Given the description of an element on the screen output the (x, y) to click on. 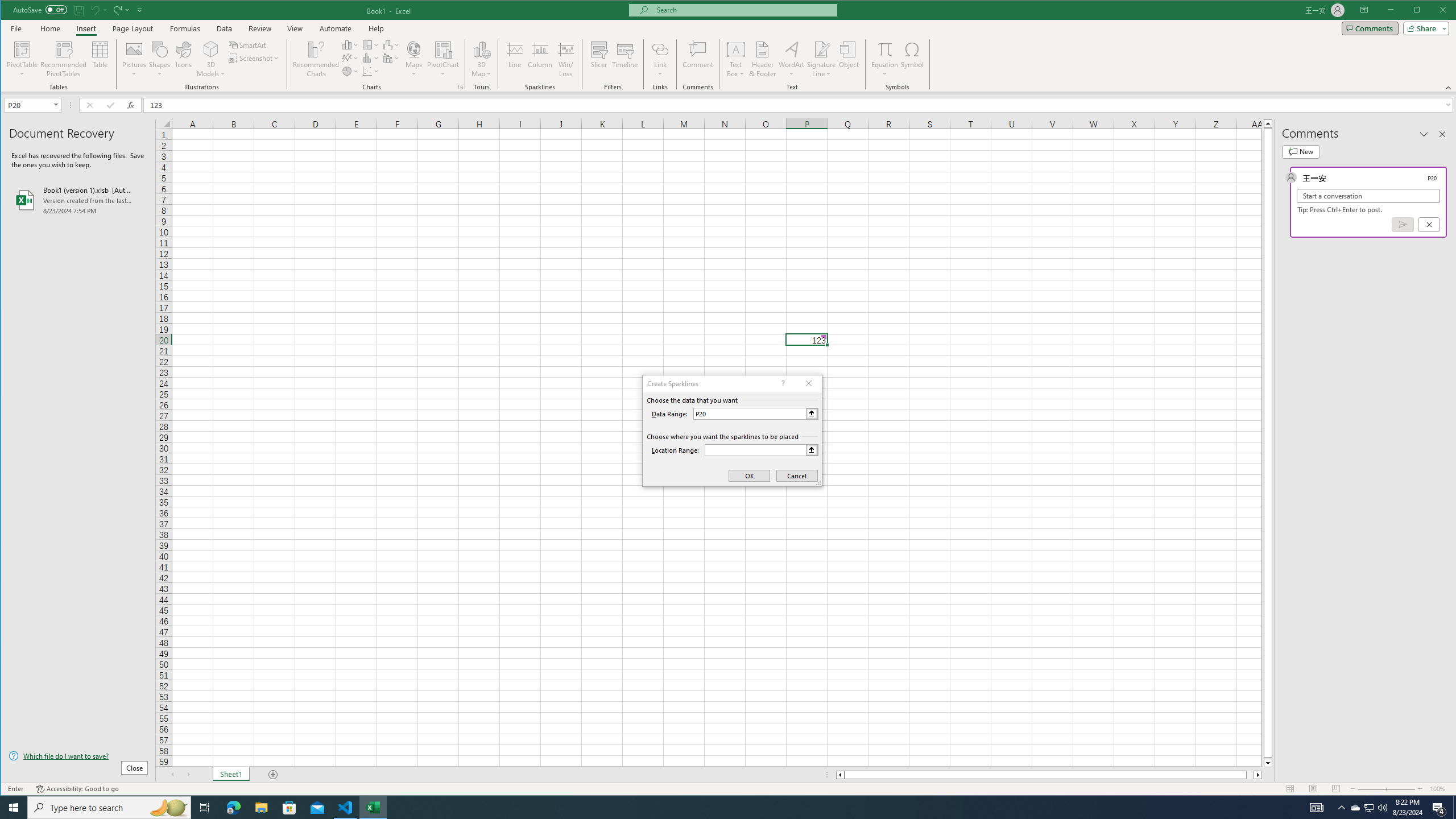
Shapes (159, 59)
Insert Column or Bar Chart (350, 44)
Recommended Charts (460, 86)
Link (659, 48)
Text Box (735, 59)
Draw Horizontal Text Box (735, 48)
Timeline (625, 59)
Recommended PivotTables (63, 59)
PivotChart (443, 59)
SmartArt... (248, 44)
